Given the description of an element on the screen output the (x, y) to click on. 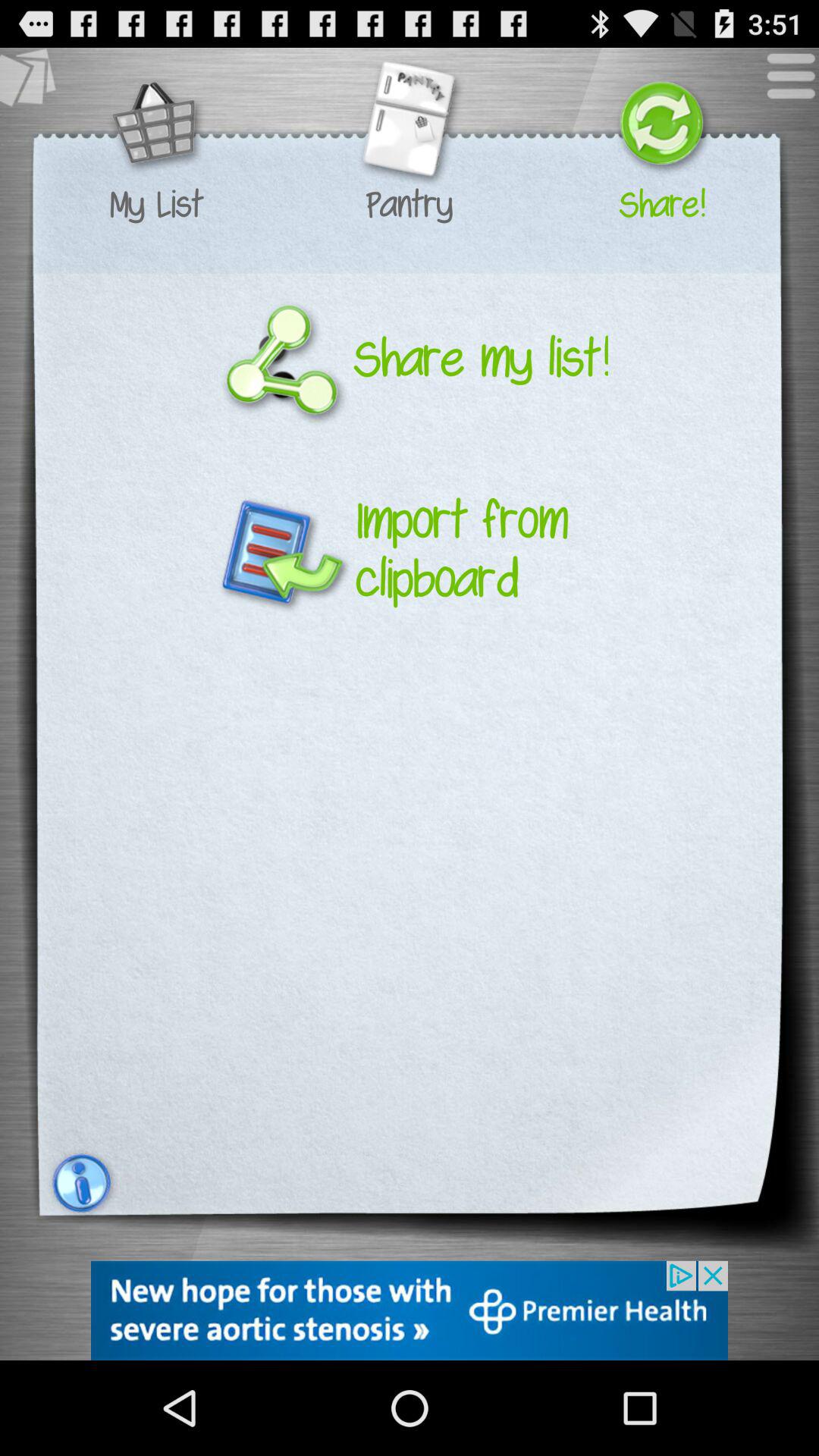
advertisement (409, 1310)
